Given the description of an element on the screen output the (x, y) to click on. 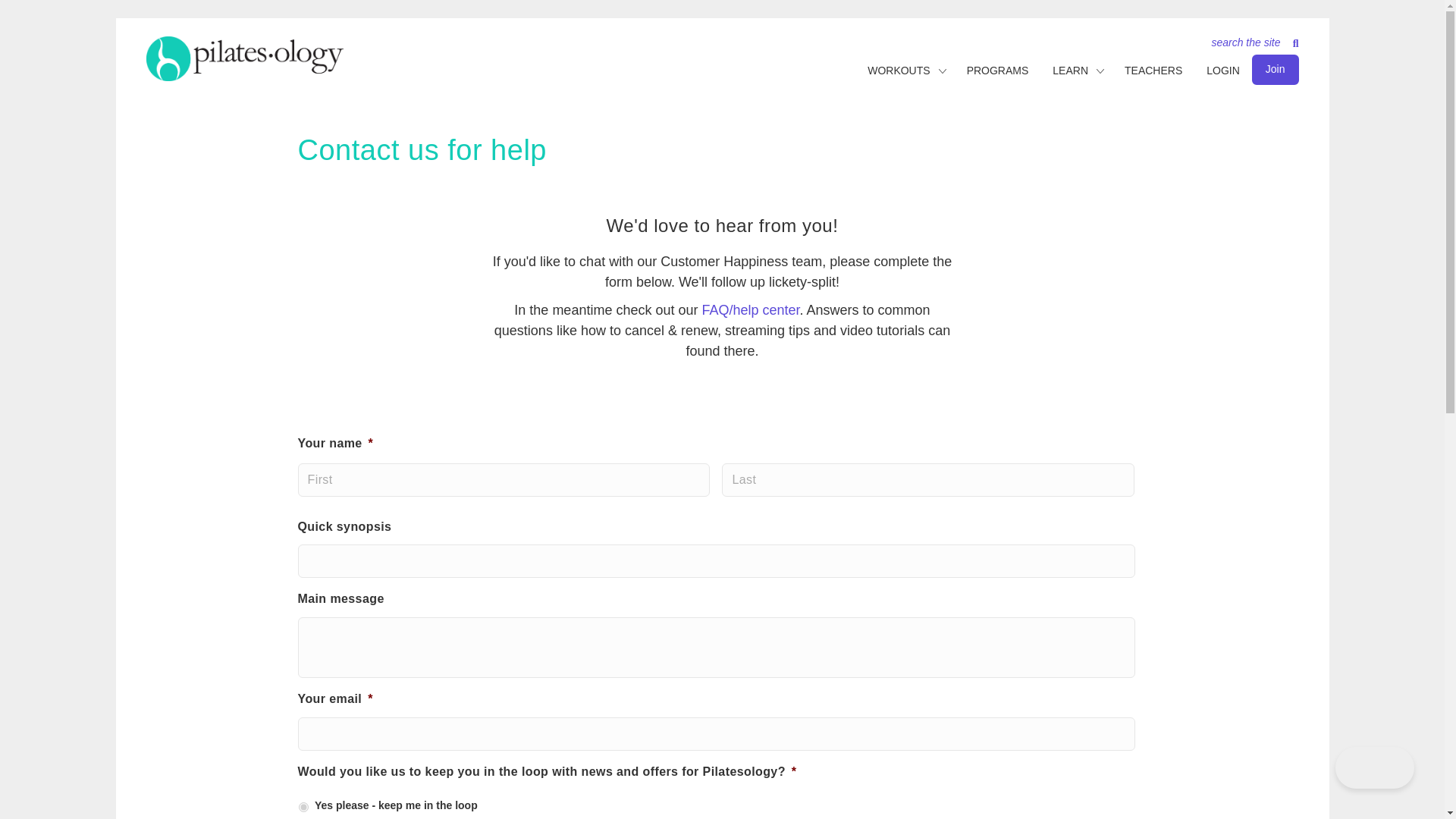
WORKOUTS (893, 71)
PROGRAMS (998, 71)
LEARN (1064, 71)
Yes please - keep me in the loop (303, 807)
